Given the description of an element on the screen output the (x, y) to click on. 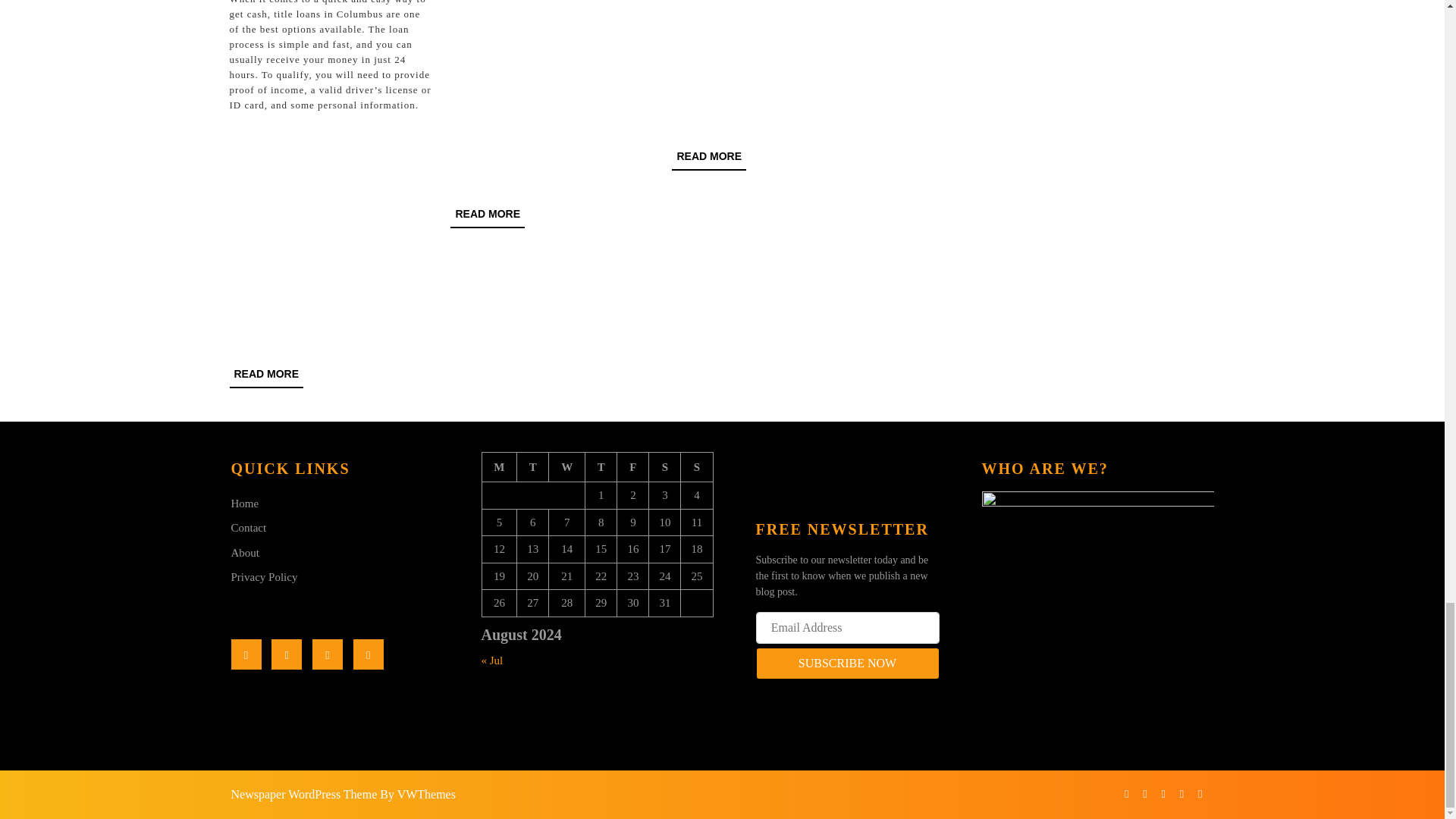
Tuesday (532, 467)
SUBSCRIBE NOW (486, 214)
Monday (847, 663)
Wednesday (498, 467)
Friday (566, 467)
Thursday (633, 467)
Saturday (708, 157)
Sunday (265, 374)
